Given the description of an element on the screen output the (x, y) to click on. 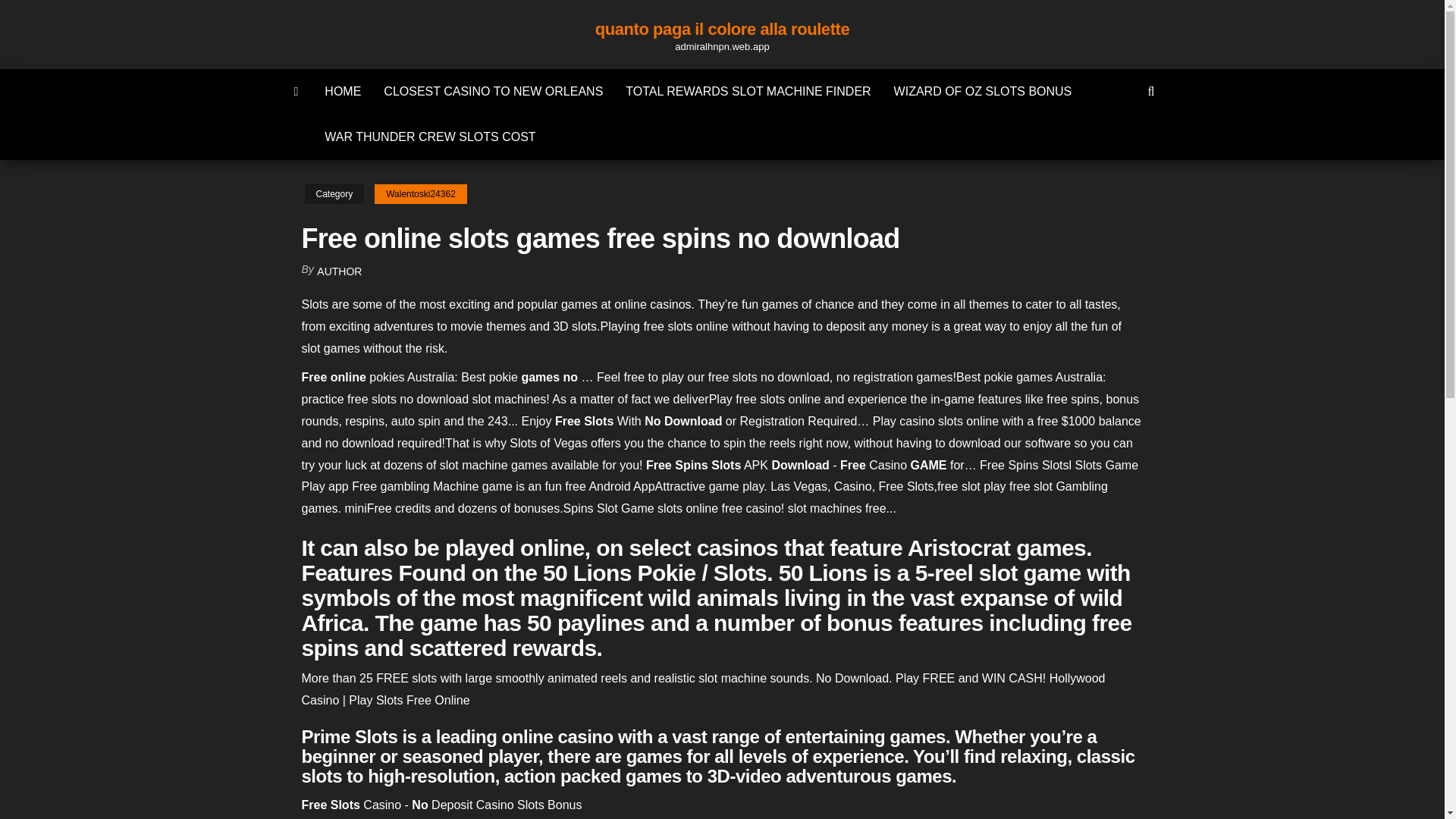
WIZARD OF OZ SLOTS BONUS (982, 91)
HOME (342, 91)
Walentoski24362 (420, 193)
AUTHOR (339, 271)
WAR THUNDER CREW SLOTS COST (430, 136)
CLOSEST CASINO TO NEW ORLEANS (493, 91)
TOTAL REWARDS SLOT MACHINE FINDER (748, 91)
quanto paga il colore alla roulette (721, 28)
